Given the description of an element on the screen output the (x, y) to click on. 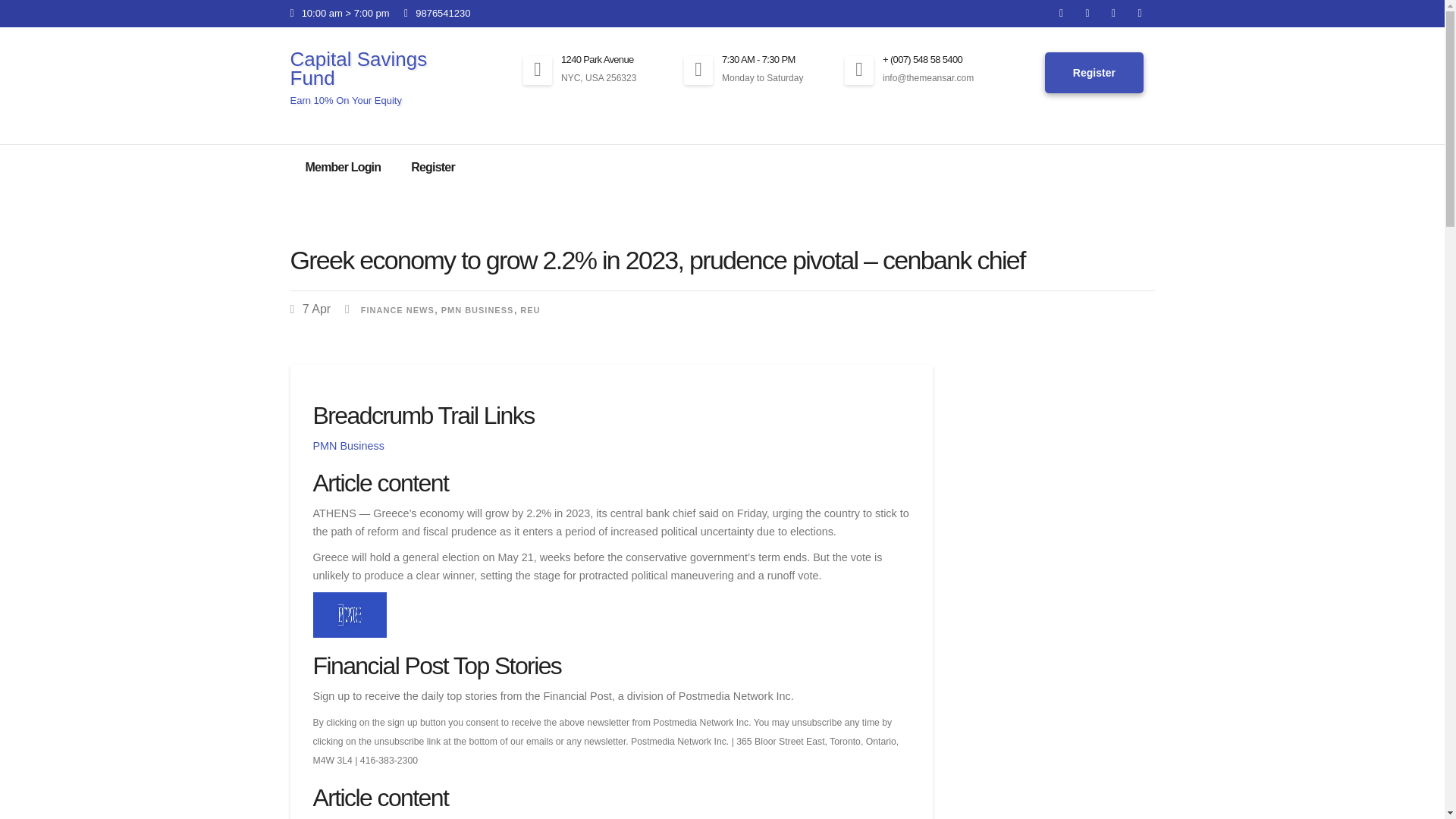
Member Login (342, 167)
FINANCE NEWS (397, 309)
PMN Business (348, 445)
Register (1092, 73)
Register (433, 167)
PMN BUSINESS (477, 309)
REU (529, 309)
9876541230 (437, 12)
